Given the description of an element on the screen output the (x, y) to click on. 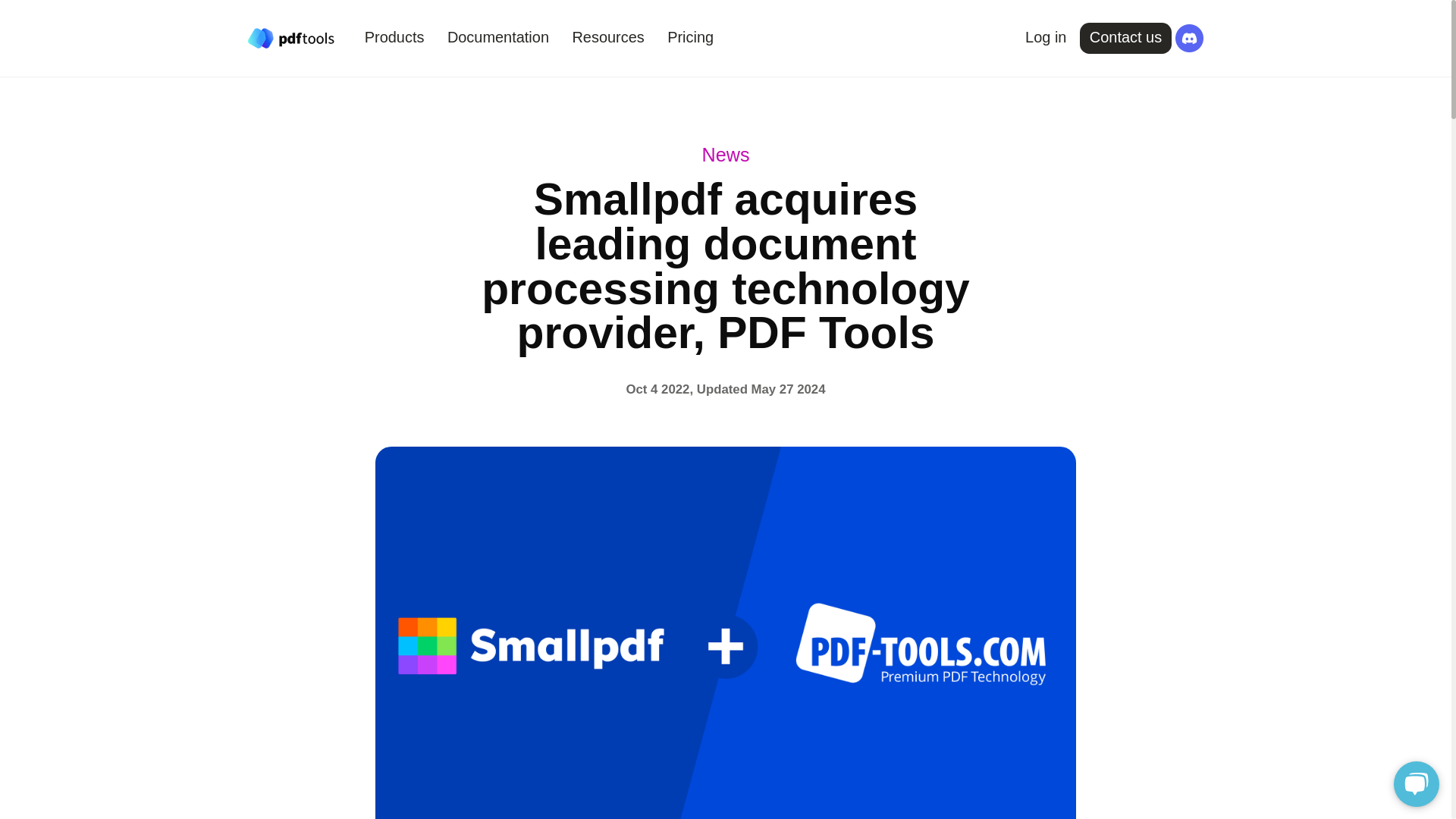
Contact us (1126, 38)
Pricing (690, 38)
Log in (1044, 38)
